Given the description of an element on the screen output the (x, y) to click on. 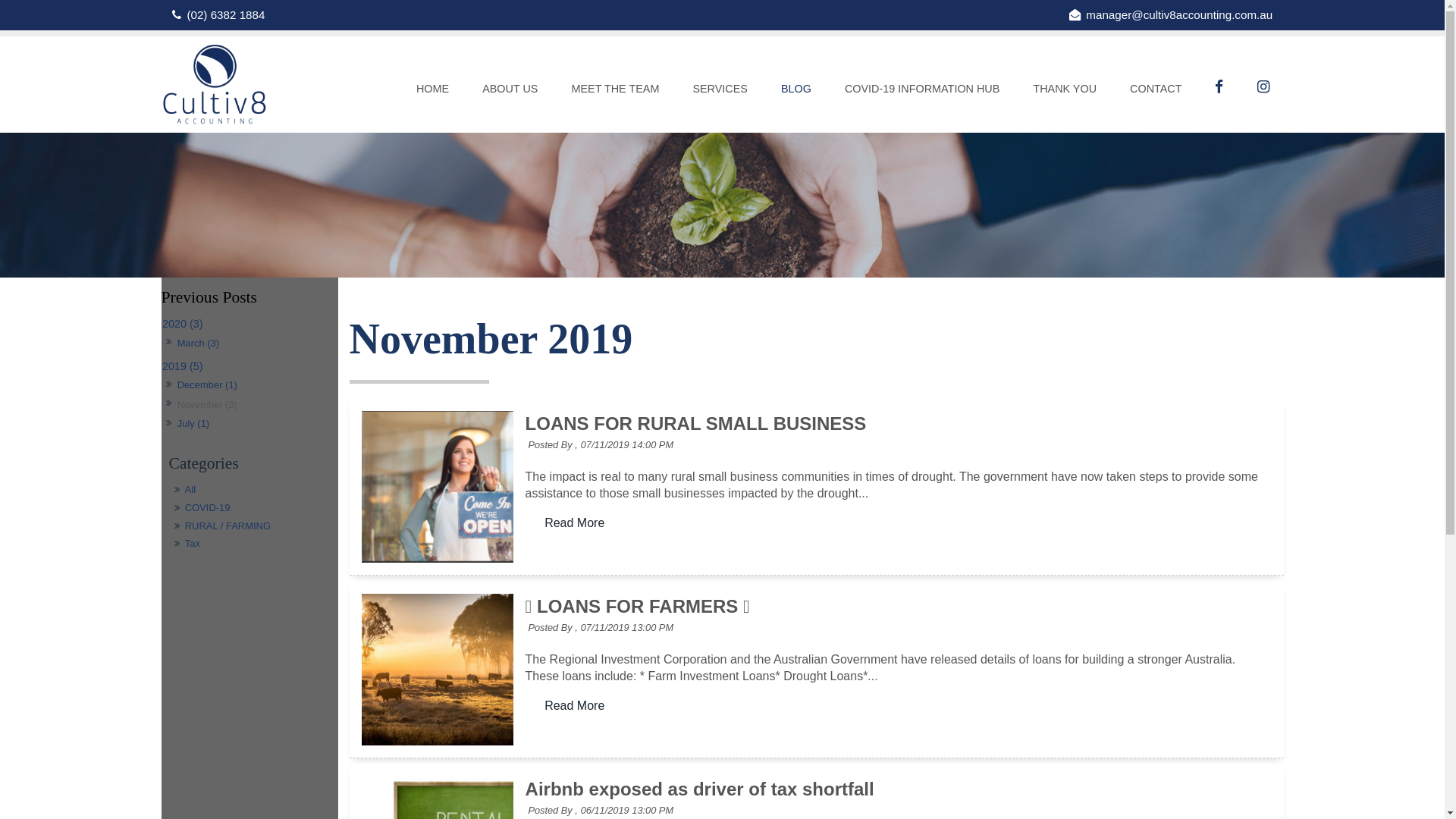
Read More Element type: text (574, 523)
THANK YOU Element type: text (1064, 90)
MEET THE TEAM Element type: text (614, 90)
2019 (5) Element type: text (248, 365)
2020 (3) Element type: text (248, 323)
November (3) Element type: text (206, 404)
Read More Element type: text (574, 705)
Read More Element type: text (574, 705)
CONTACT Element type: text (1155, 90)
manager@cultiv8accounting.com.au Element type: text (1170, 15)
(02) 6382 1884 Element type: text (217, 15)
July (1) Element type: text (192, 424)
Read More Element type: text (574, 523)
March (3) Element type: text (197, 342)
All Element type: text (251, 489)
ABOUT US Element type: text (509, 90)
COVID-19 INFORMATION HUB Element type: text (921, 90)
HOME Element type: text (432, 90)
COVID-19 Element type: text (251, 508)
Tax Element type: text (251, 543)
December (1) Element type: text (206, 385)
RURAL / FARMING Element type: text (251, 525)
SERVICES Element type: text (719, 90)
BLOG Element type: text (795, 90)
